Given the description of an element on the screen output the (x, y) to click on. 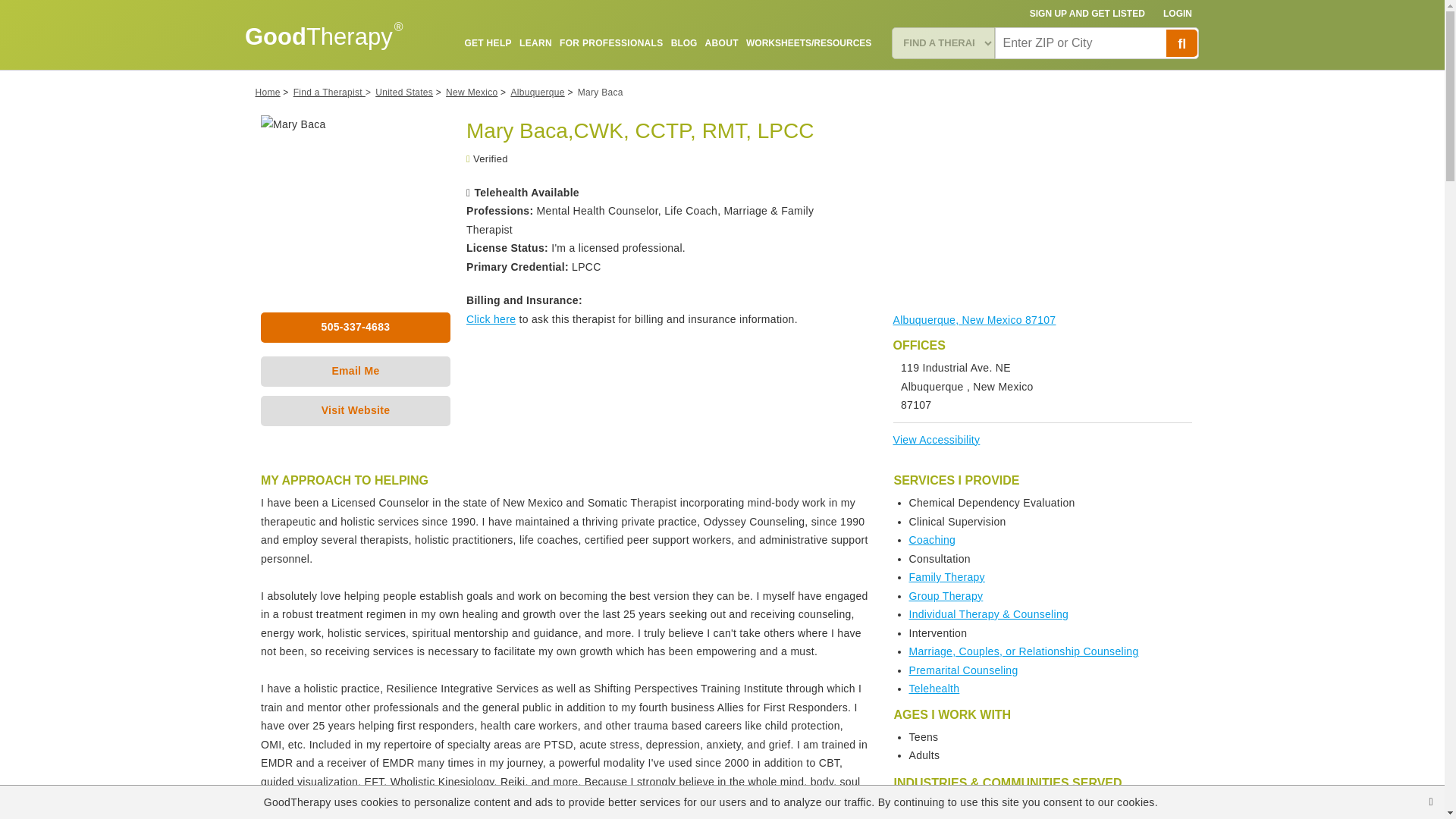
SIGN UP AND GET LISTED (1087, 13)
NEWSLETTER (840, 77)
LOGIN (1177, 13)
BLOG (684, 42)
P (1181, 42)
